Given the description of an element on the screen output the (x, y) to click on. 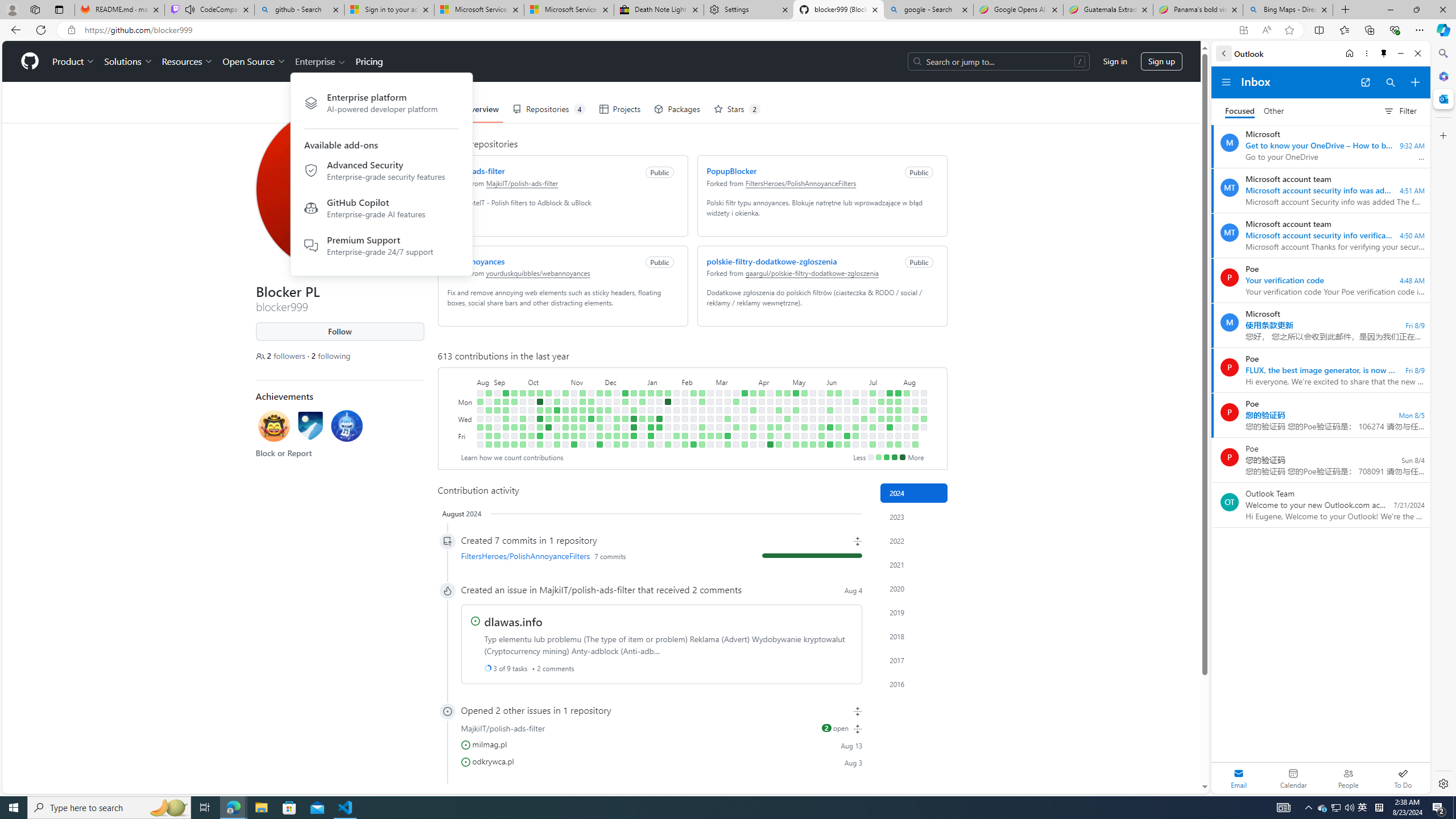
2 contributions on November 28th. (598, 410)
1 contribution on June 1st. (821, 444)
No contributions on August 30th. (488, 418)
1 contribution on November 7th. (573, 410)
Advanced Security Enterprise-grade security features (381, 172)
2 contributions on May 30th. (821, 427)
No contributions on February 8th. (684, 427)
4 contributions on November 13th. (582, 401)
6 contributions on July 25th. (889, 427)
1 contribution on August 15th. (914, 427)
No contributions on September 3rd. (496, 392)
1 contribution on October 1st. (530, 392)
No contributions on October 4th. (530, 418)
Settings and more (Alt+F) (1419, 29)
Address and search bar (658, 29)
